Given the description of an element on the screen output the (x, y) to click on. 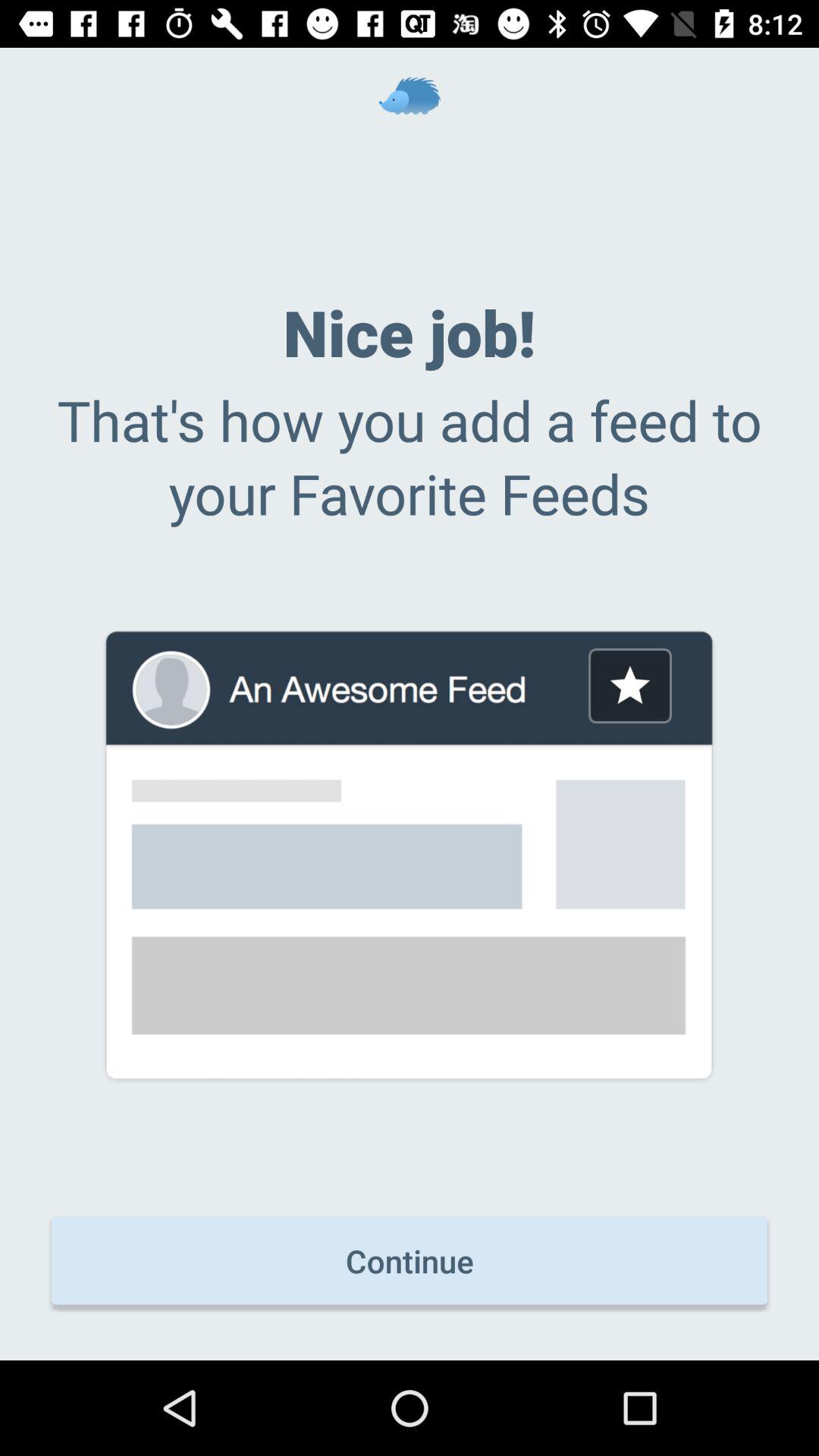
bookmark the item (629, 685)
